Given the description of an element on the screen output the (x, y) to click on. 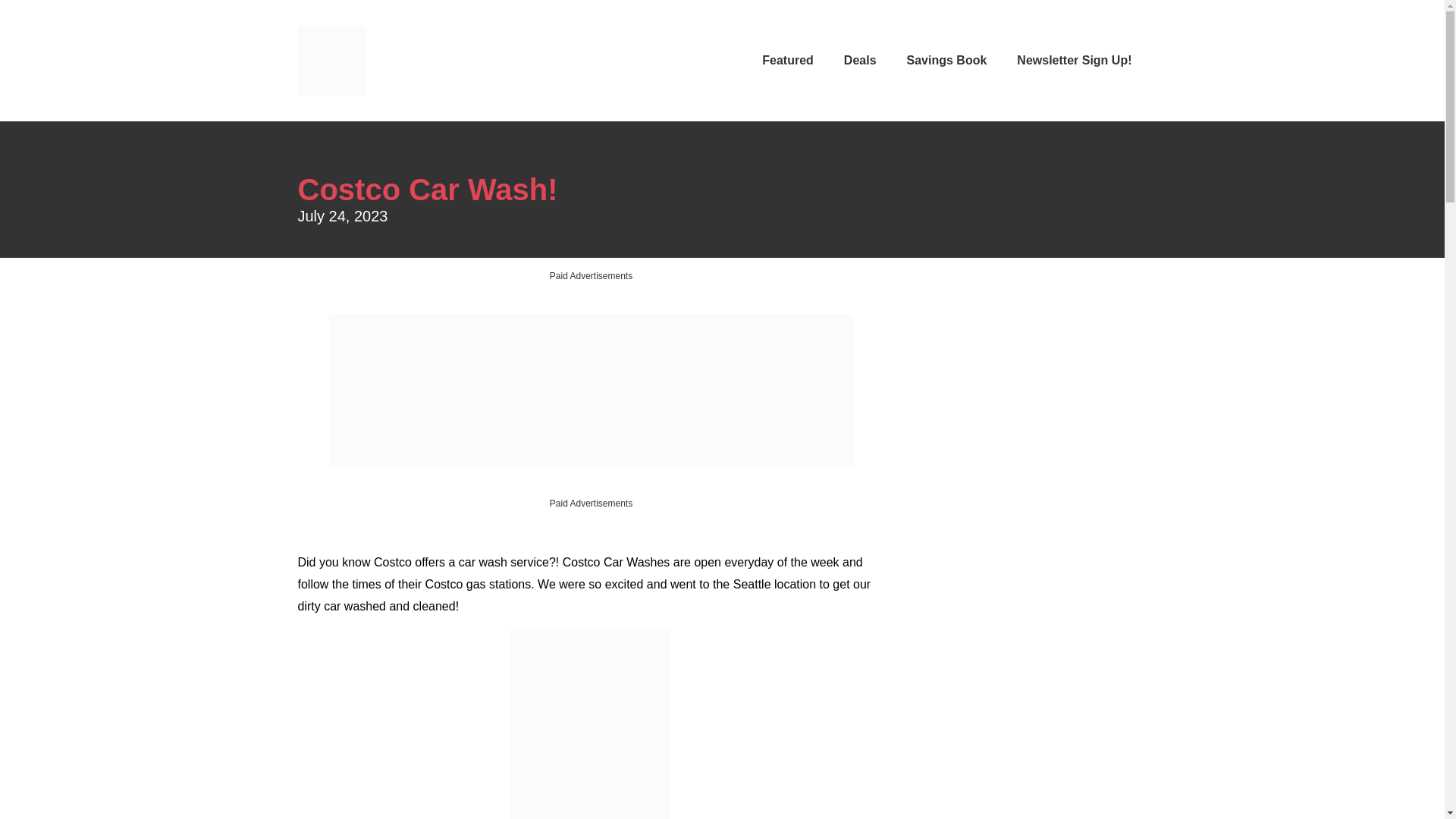
Deals (859, 60)
Savings Book (947, 60)
Featured (787, 60)
Newsletter Sign Up! (1074, 60)
